Given the description of an element on the screen output the (x, y) to click on. 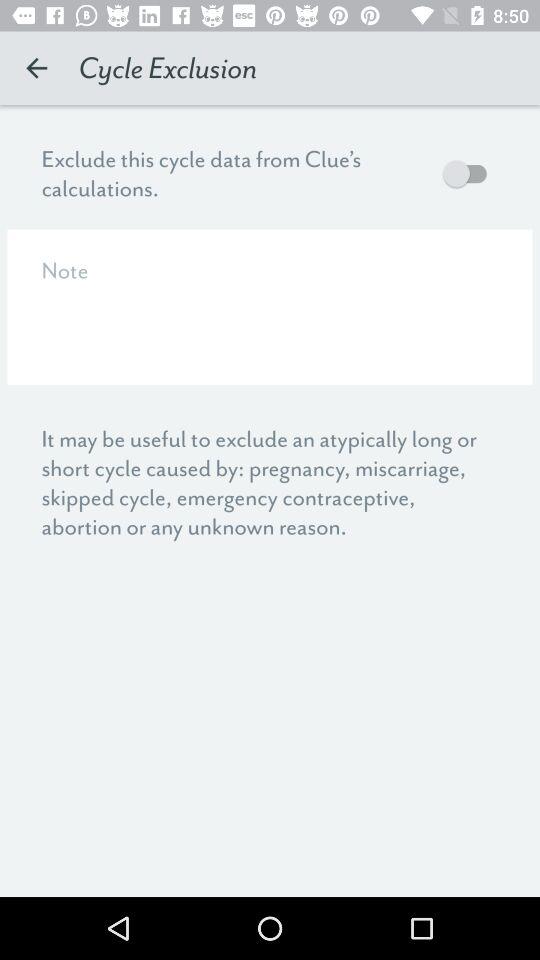
notes section (269, 306)
